Given the description of an element on the screen output the (x, y) to click on. 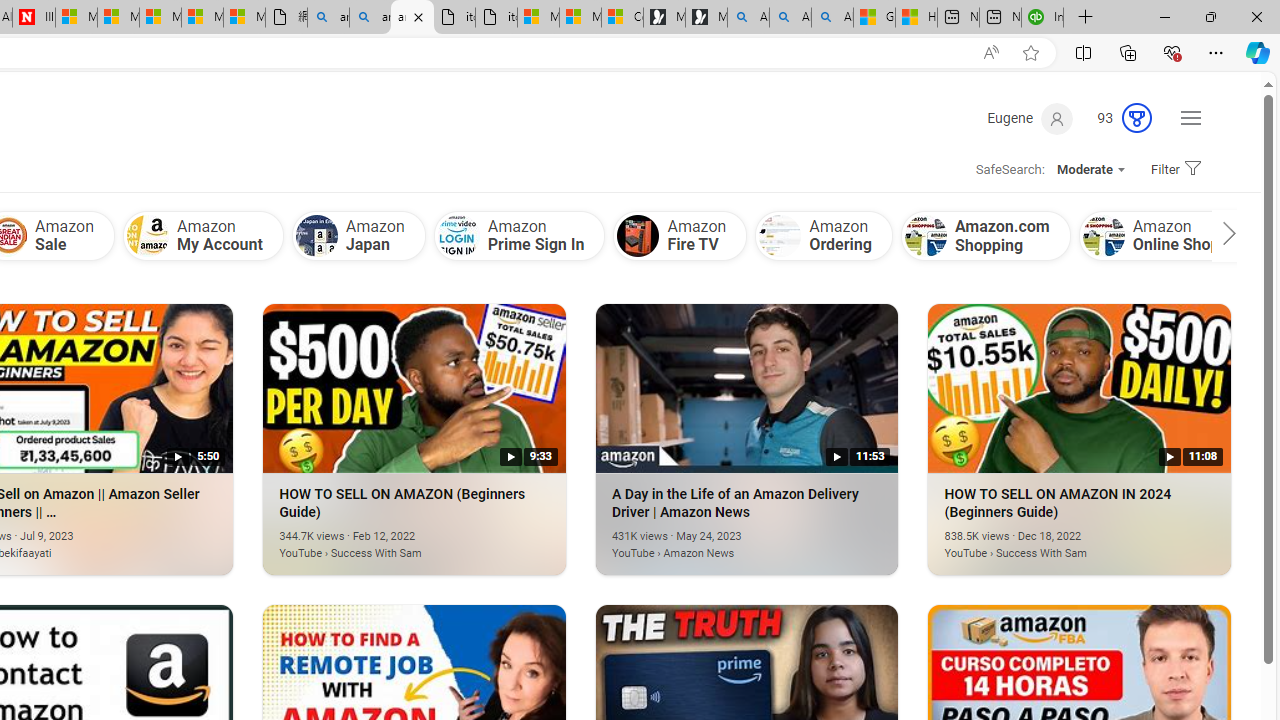
How to Use a TV as a Computer Monitor (916, 17)
Amazon Ordering (824, 235)
Amazon Prime Sign In (458, 236)
HOW TO SELL ON AMAZON (Beginners Guide) (384, 542)
Intuit QuickBooks Online - Quickbooks (1042, 17)
Amazon Prime Sign In (519, 235)
Amazon Japan (357, 235)
AutomationID: rh_meter (1137, 117)
Eugene (1029, 119)
Moderate SafeSearch: (1090, 169)
